Given the description of an element on the screen output the (x, y) to click on. 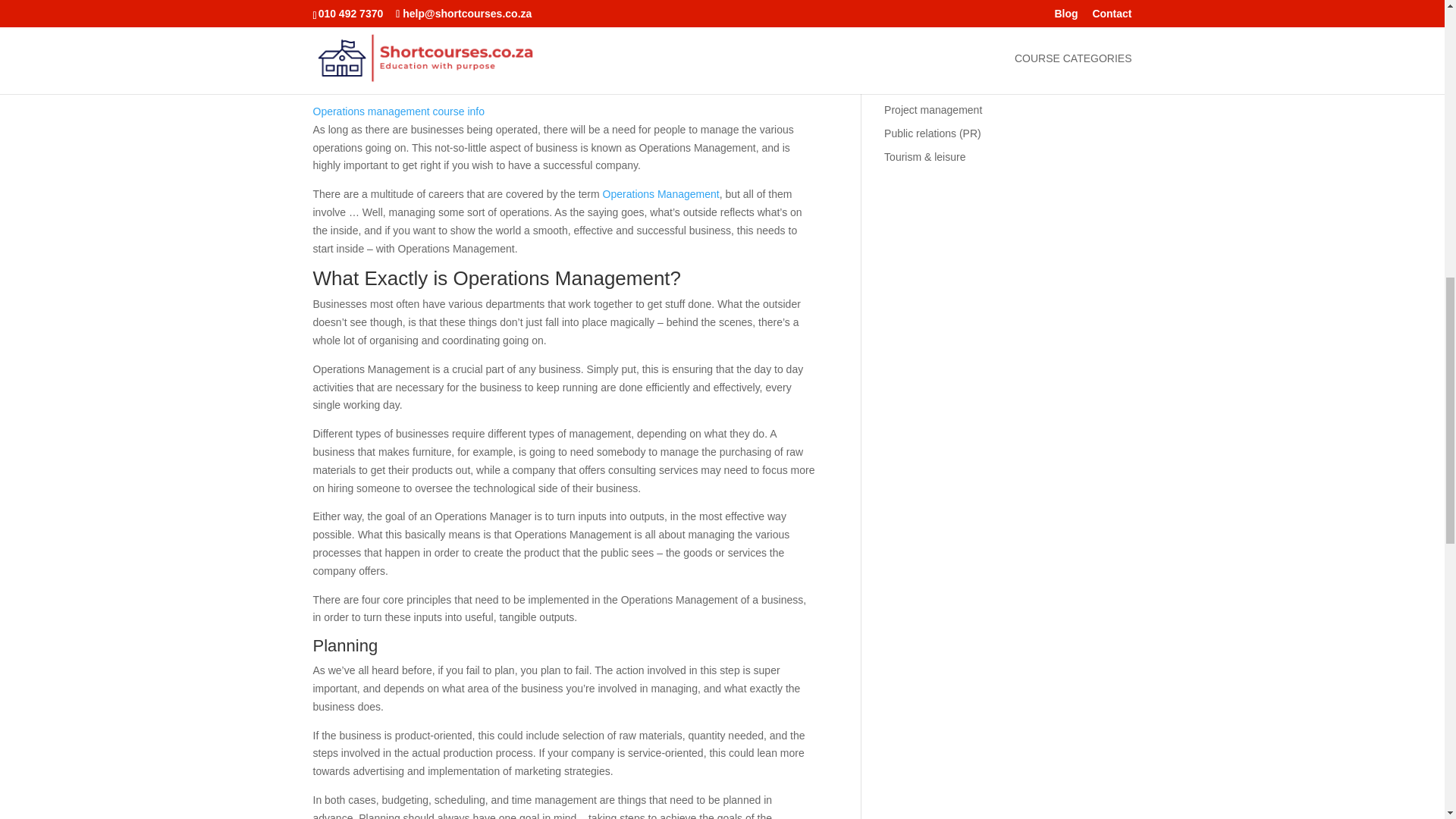
Project management (932, 110)
Jobs (895, 16)
Operations management (942, 87)
Labour Law (911, 39)
Operations Management (660, 193)
Operations management course info (398, 111)
